Given the description of an element on the screen output the (x, y) to click on. 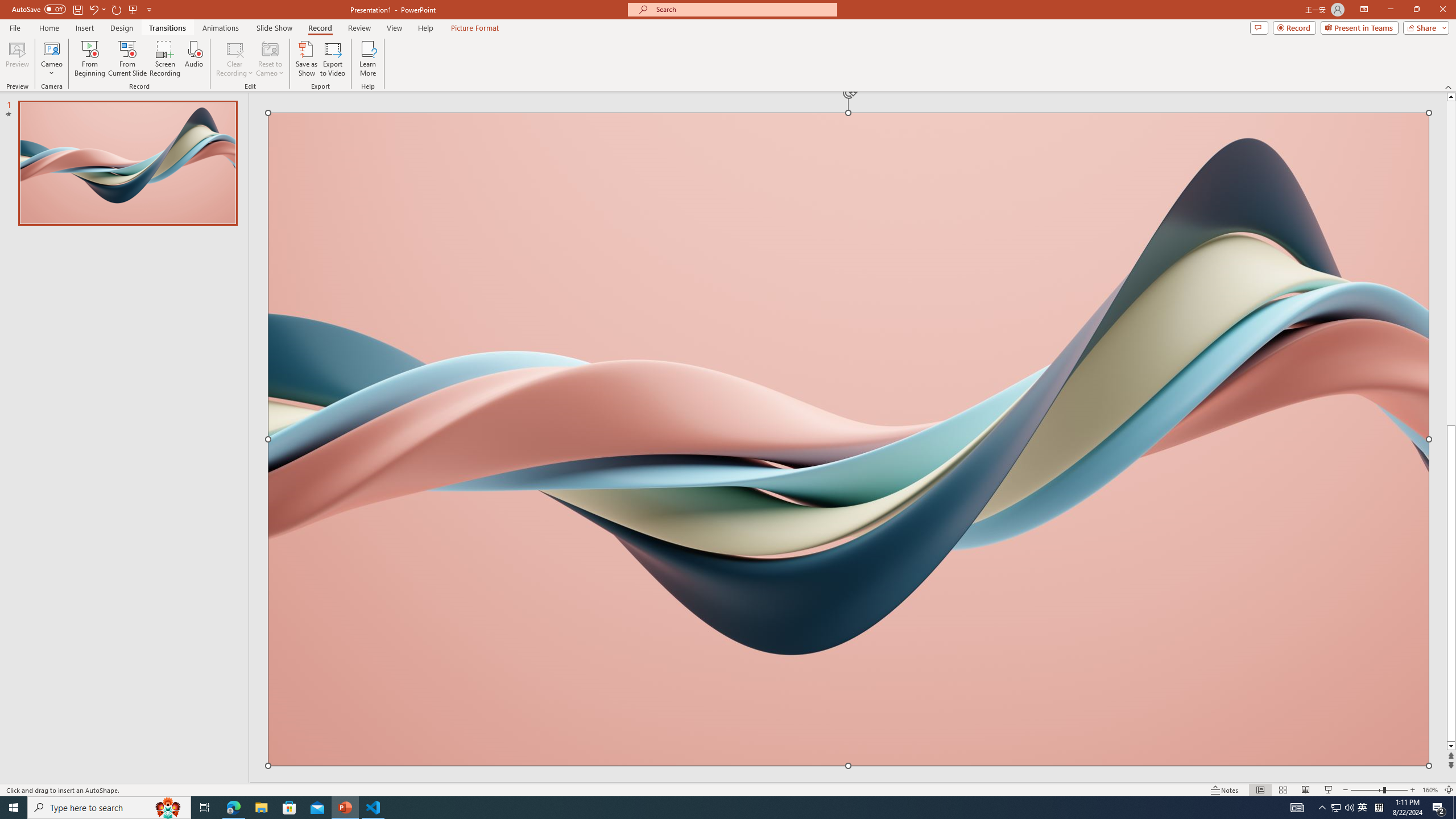
Picture Format (475, 28)
